Given the description of an element on the screen output the (x, y) to click on. 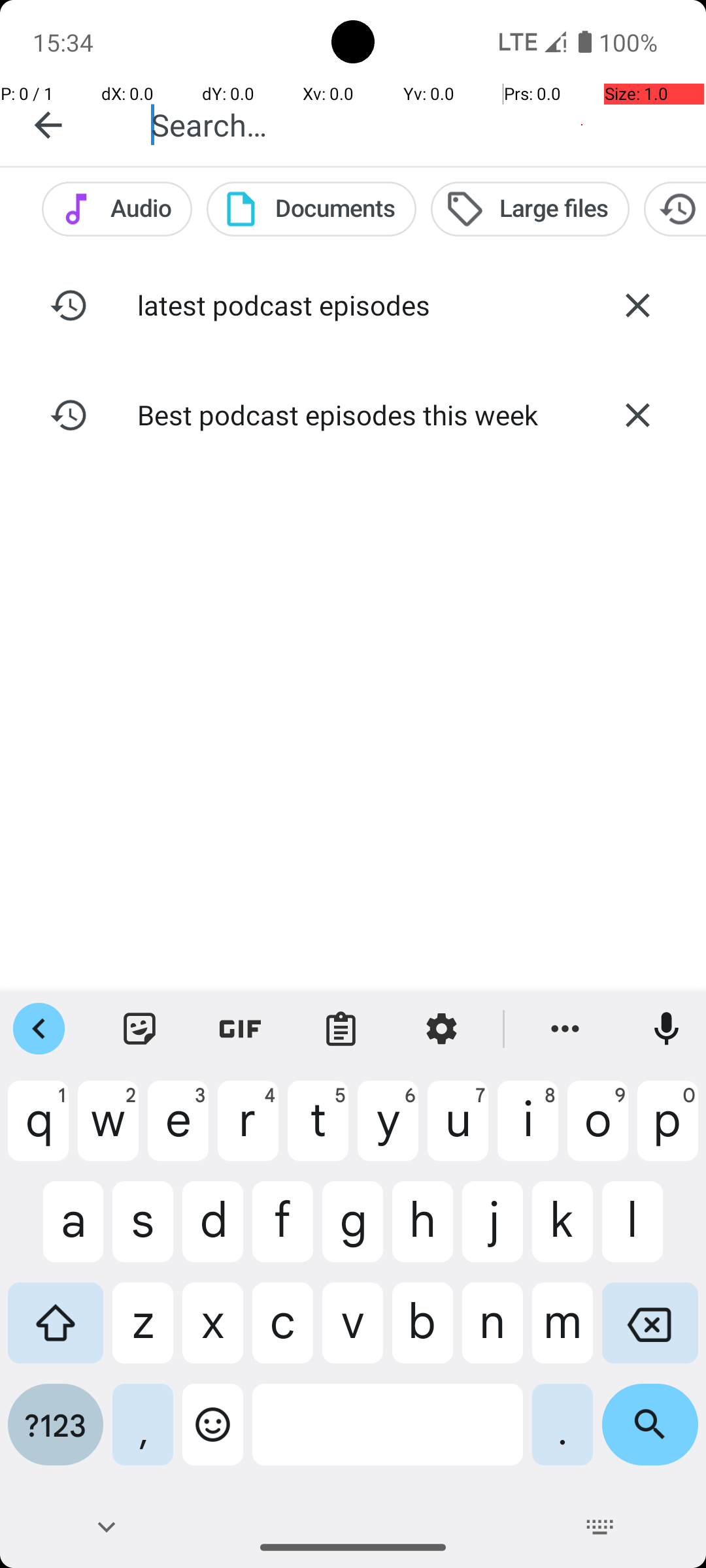
latest podcast episodes Element type: android.widget.TextView (352, 304)
Delete search history latest podcast episodes Element type: android.widget.ImageView (637, 304)
Best podcast episodes this week Element type: android.widget.TextView (352, 414)
Delete search history Best podcast episodes this week Element type: android.widget.ImageView (637, 414)
